Given the description of an element on the screen output the (x, y) to click on. 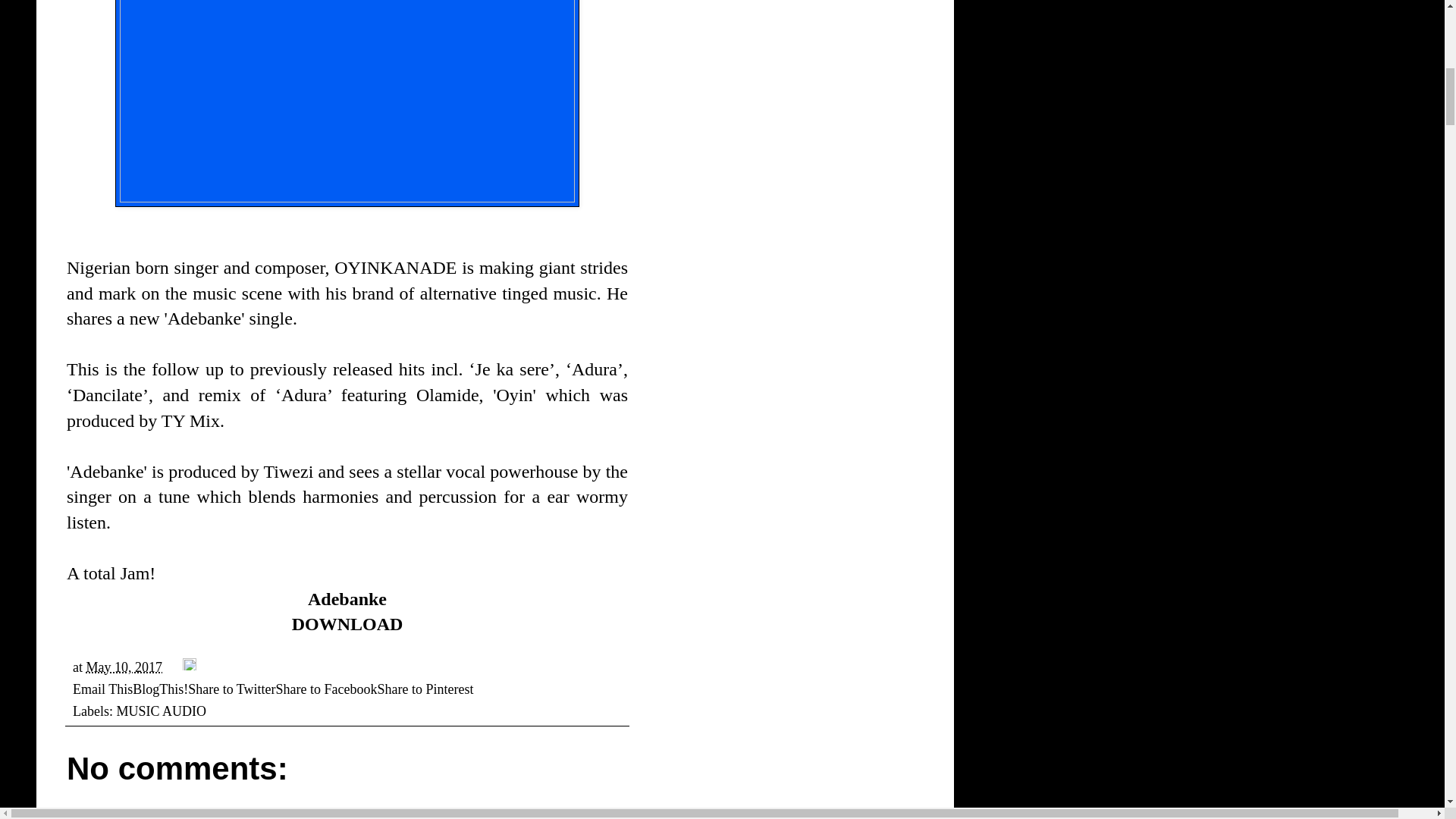
permanent link (124, 667)
Share to Facebook (326, 688)
MUSIC AUDIO (161, 711)
Share to Pinterest (425, 688)
DOWNLOAD (347, 624)
Email Post (174, 667)
Share to Facebook (326, 688)
Edit Post (189, 667)
BlogThis! (159, 688)
Email This (102, 688)
Share to Pinterest (425, 688)
Share to Twitter (231, 688)
Email This (102, 688)
May 10, 2017 (124, 667)
BlogThis! (159, 688)
